Given the description of an element on the screen output the (x, y) to click on. 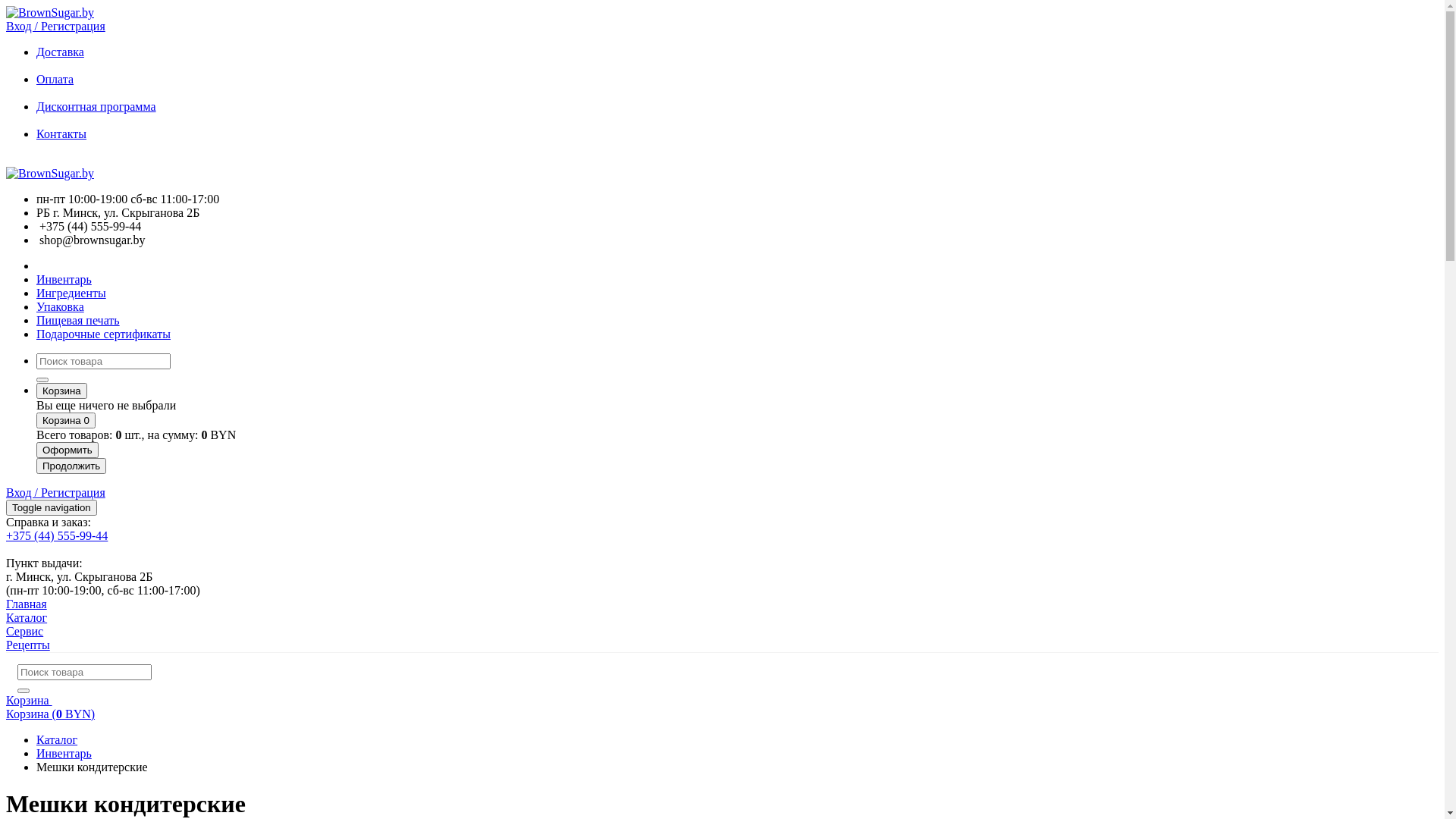
+375 (44) 555-99-44 Element type: text (722, 535)
Toggle navigation Element type: text (51, 507)
